Given the description of an element on the screen output the (x, y) to click on. 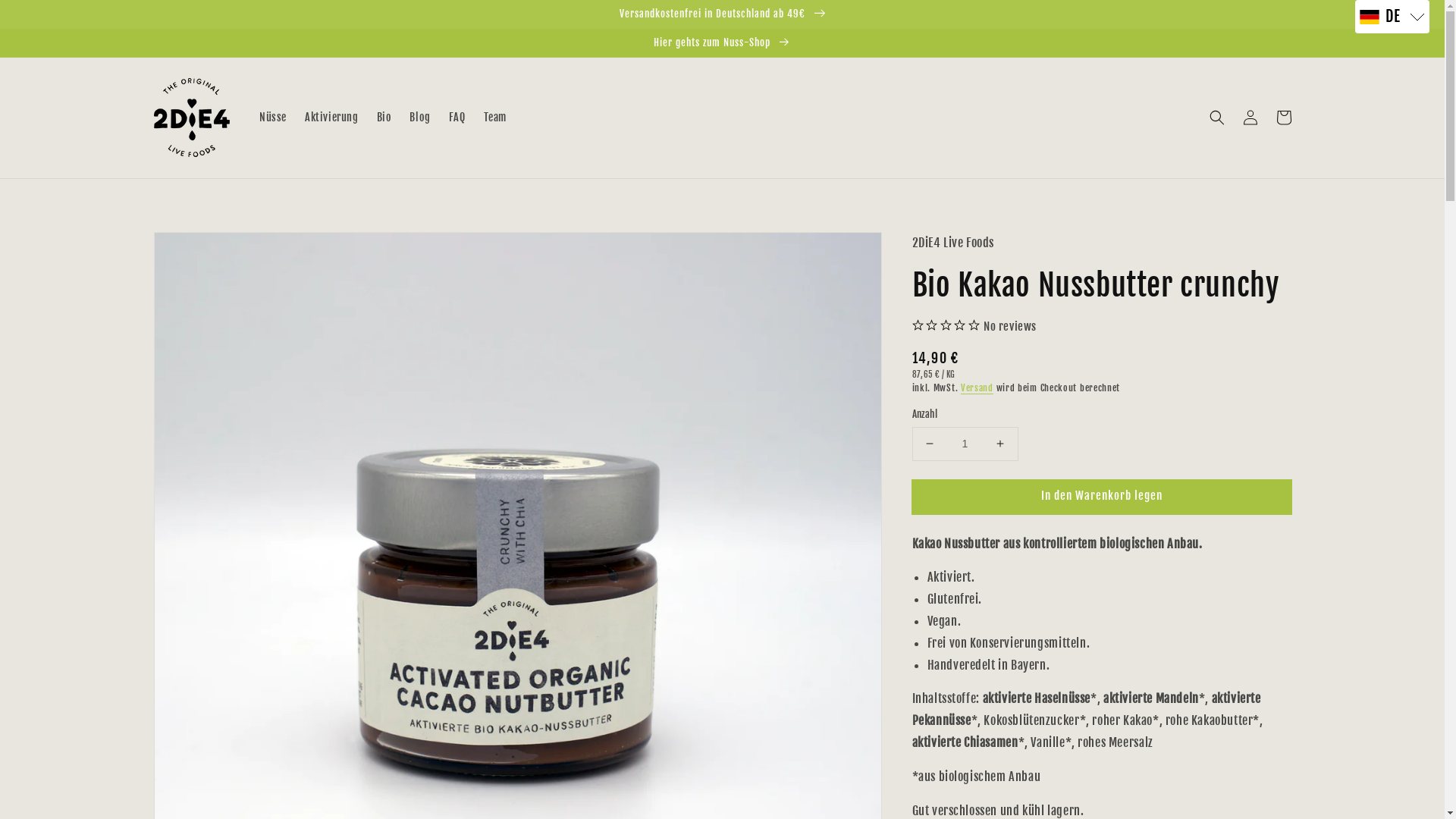
Team Element type: text (494, 117)
FAQ Element type: text (456, 117)
Versand Element type: text (976, 387)
Blog Element type: text (419, 117)
Bio Element type: text (384, 117)
DE Element type: text (1392, 16)
In den Warenkorb legen Element type: text (1100, 497)
Zu Produktinformationen springen Element type: text (198, 248)
Aktivierung Element type: text (331, 117)
Einloggen Element type: text (1249, 117)
Hier gehts zum Nuss-Shop Element type: text (722, 42)
Warenkorb Element type: text (1282, 117)
